Given the description of an element on the screen output the (x, y) to click on. 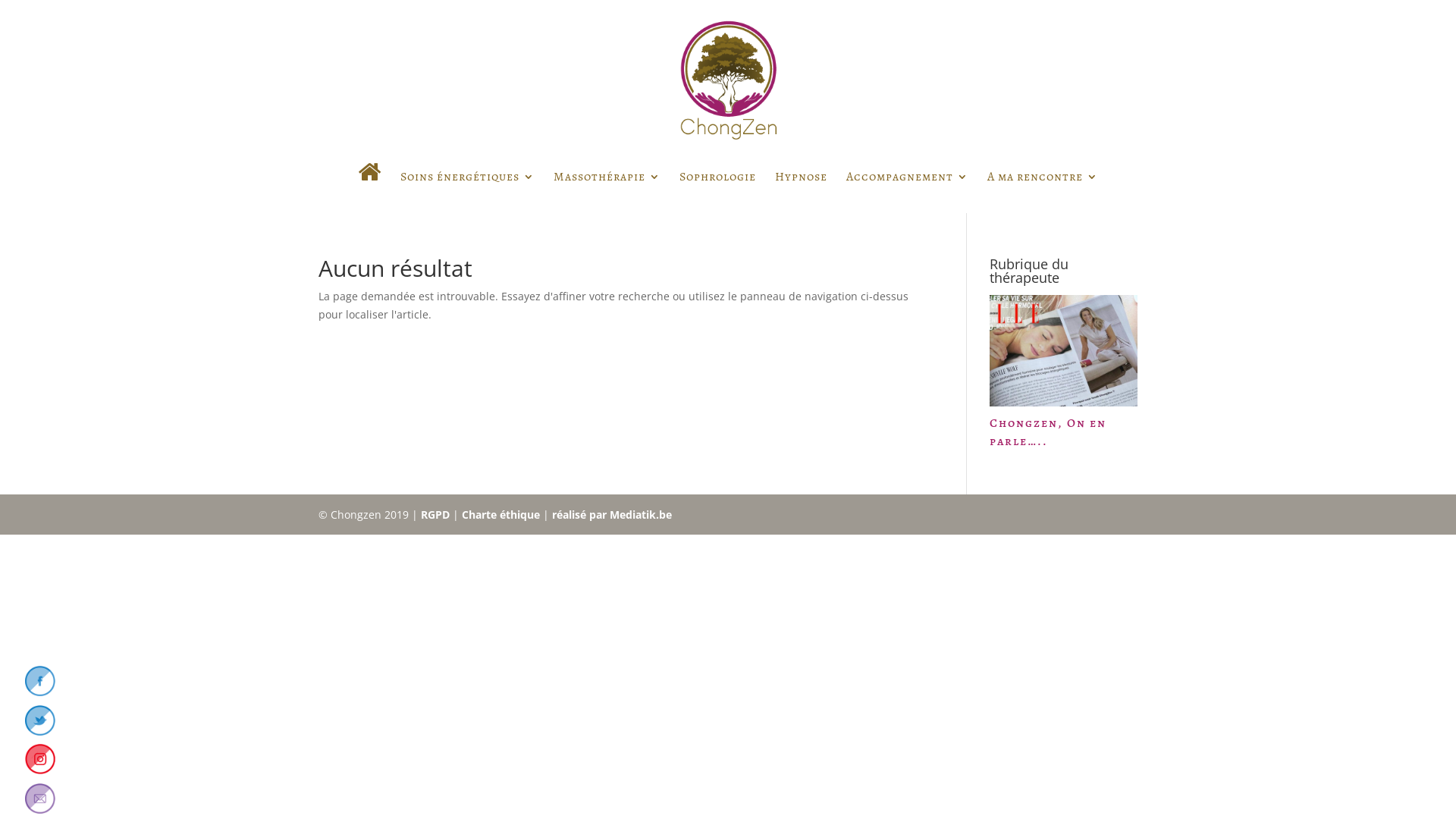
Sophrologie Element type: text (717, 190)
Accompagnement Element type: text (907, 190)
Hypnose Element type: text (801, 190)
A ma rencontre Element type: text (1042, 190)
RGPD Element type: text (434, 514)
